Given the description of an element on the screen output the (x, y) to click on. 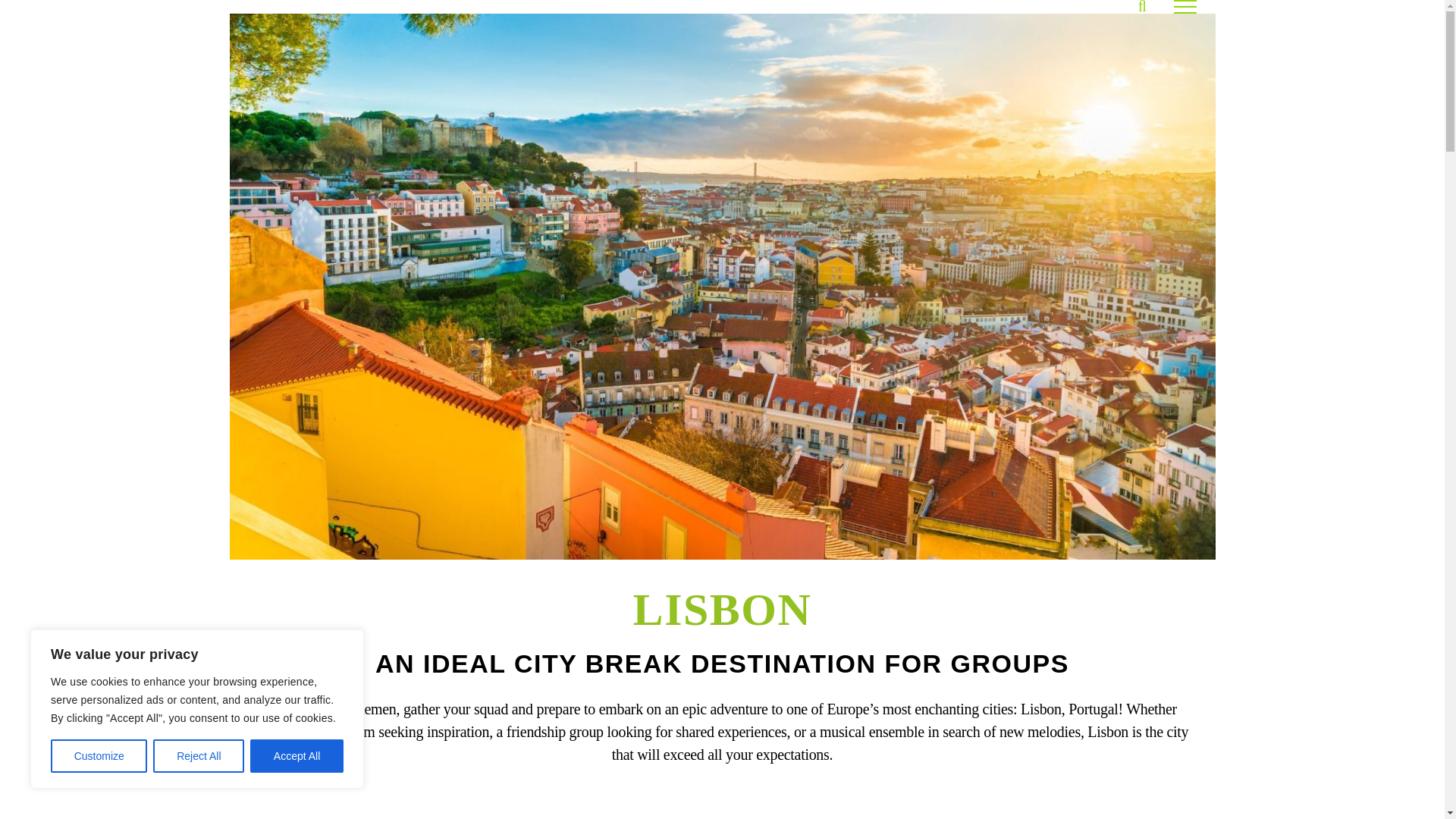
Reject All (198, 756)
Accept All (296, 756)
Customize (98, 756)
